Given the description of an element on the screen output the (x, y) to click on. 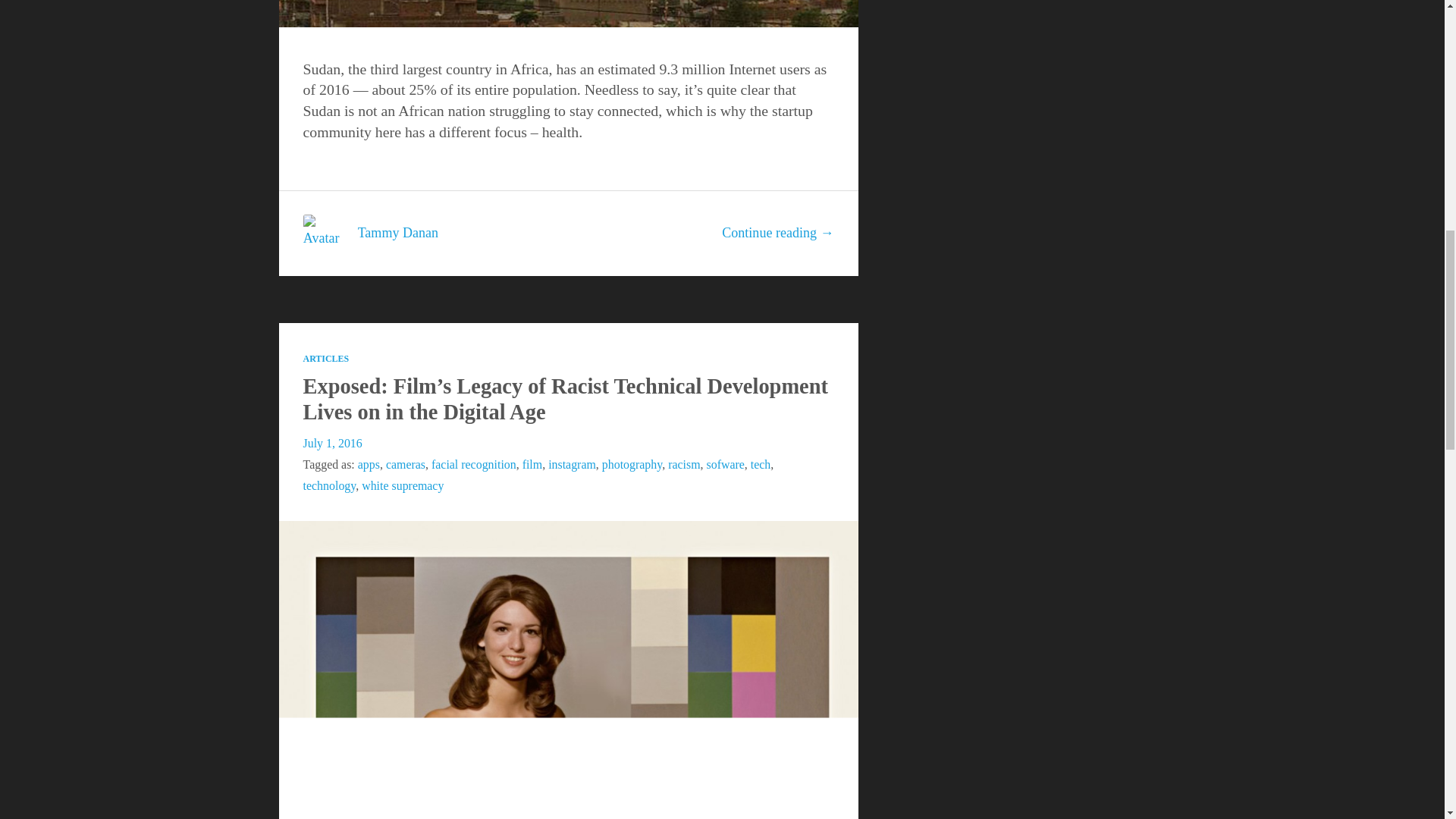
facial recognition (473, 463)
Tammy Danan (398, 232)
ARTICLES (325, 357)
photography (632, 463)
apps (369, 463)
racism (684, 463)
white supremacy (402, 485)
instagram (571, 463)
cameras (405, 463)
sofware (725, 463)
